Given the description of an element on the screen output the (x, y) to click on. 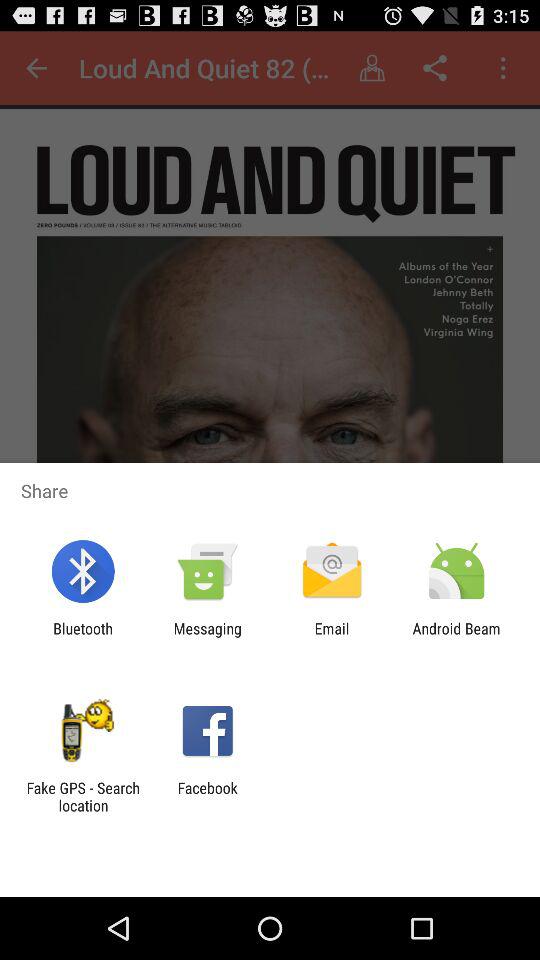
open icon next to the email app (456, 637)
